Given the description of an element on the screen output the (x, y) to click on. 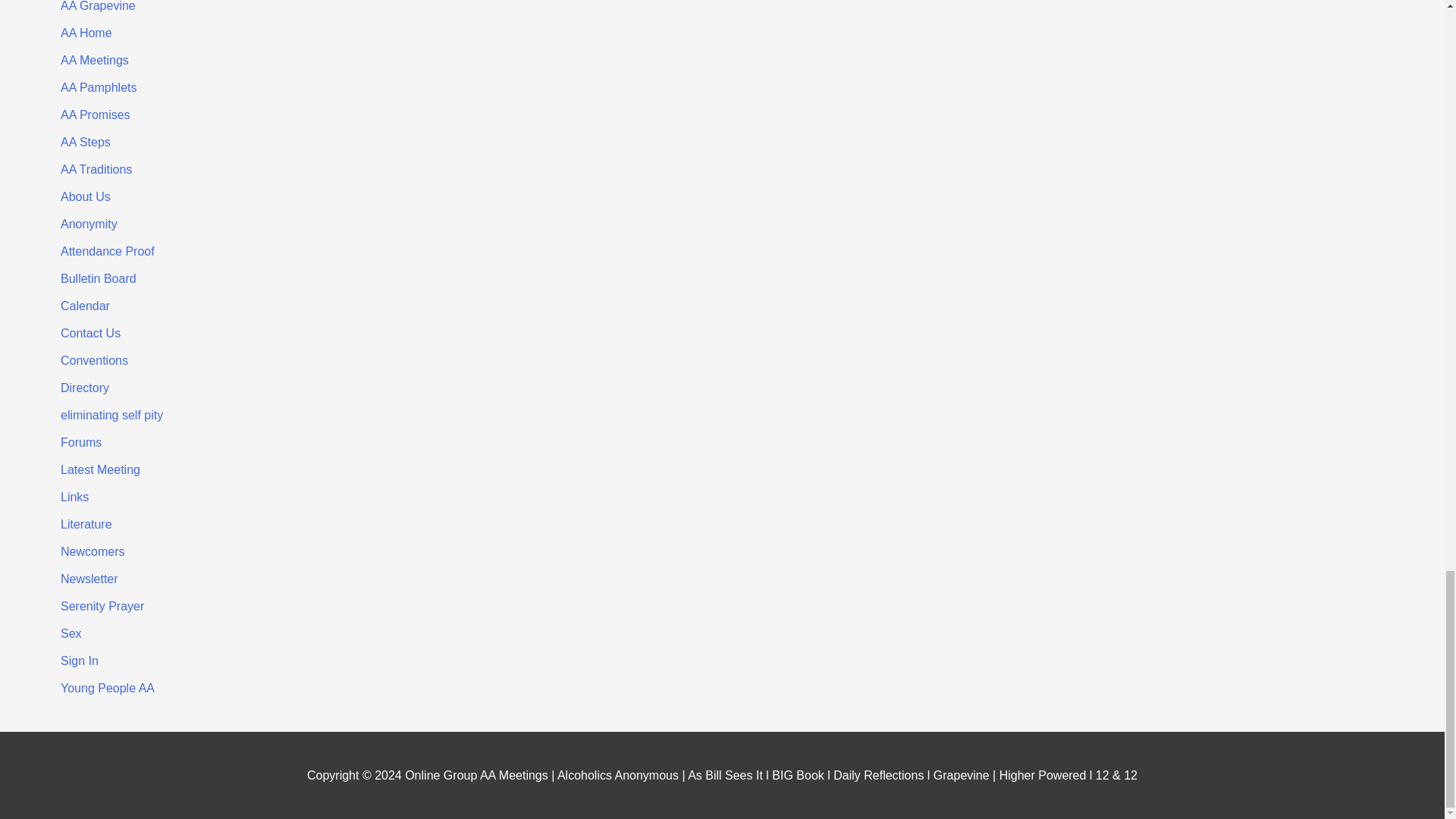
AA Traditions (96, 169)
Conventions (94, 359)
Bulletin Board (98, 278)
AA Pamphlets (98, 87)
Anonymity (89, 223)
About Us (85, 196)
Contact Us (90, 332)
AA Grapevine (98, 6)
AA Steps (85, 141)
Attendance Proof (107, 250)
